Given the description of an element on the screen output the (x, y) to click on. 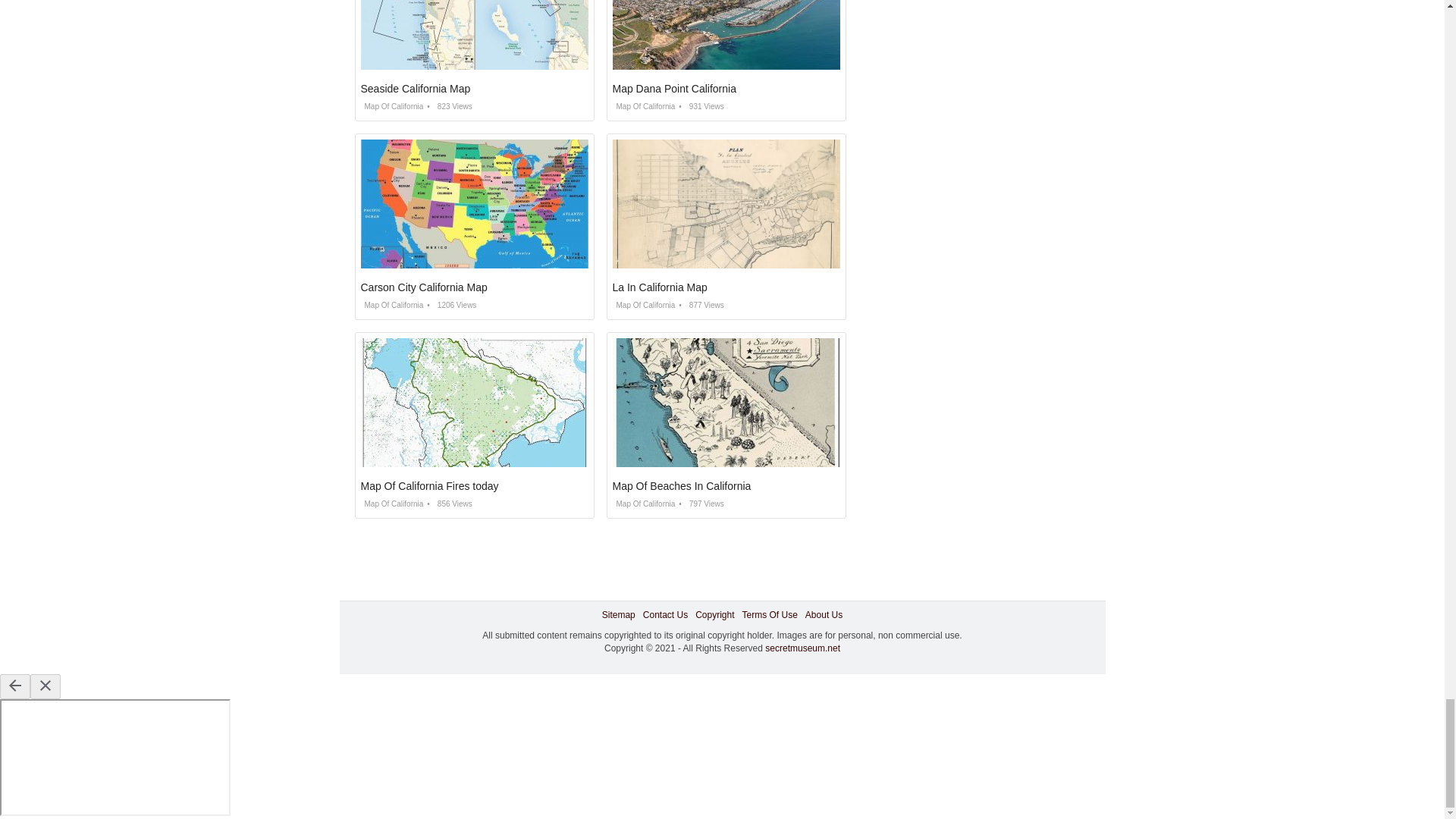
Map Of California (392, 503)
Map Dana Point California (674, 88)
Seaside California Map (415, 88)
Map Of California (392, 305)
Carson City California Map (424, 287)
La In California Map (659, 287)
Map Of California (643, 106)
Map Of California (643, 305)
Map Of California Fires today (430, 485)
Map Of California (392, 106)
